Given the description of an element on the screen output the (x, y) to click on. 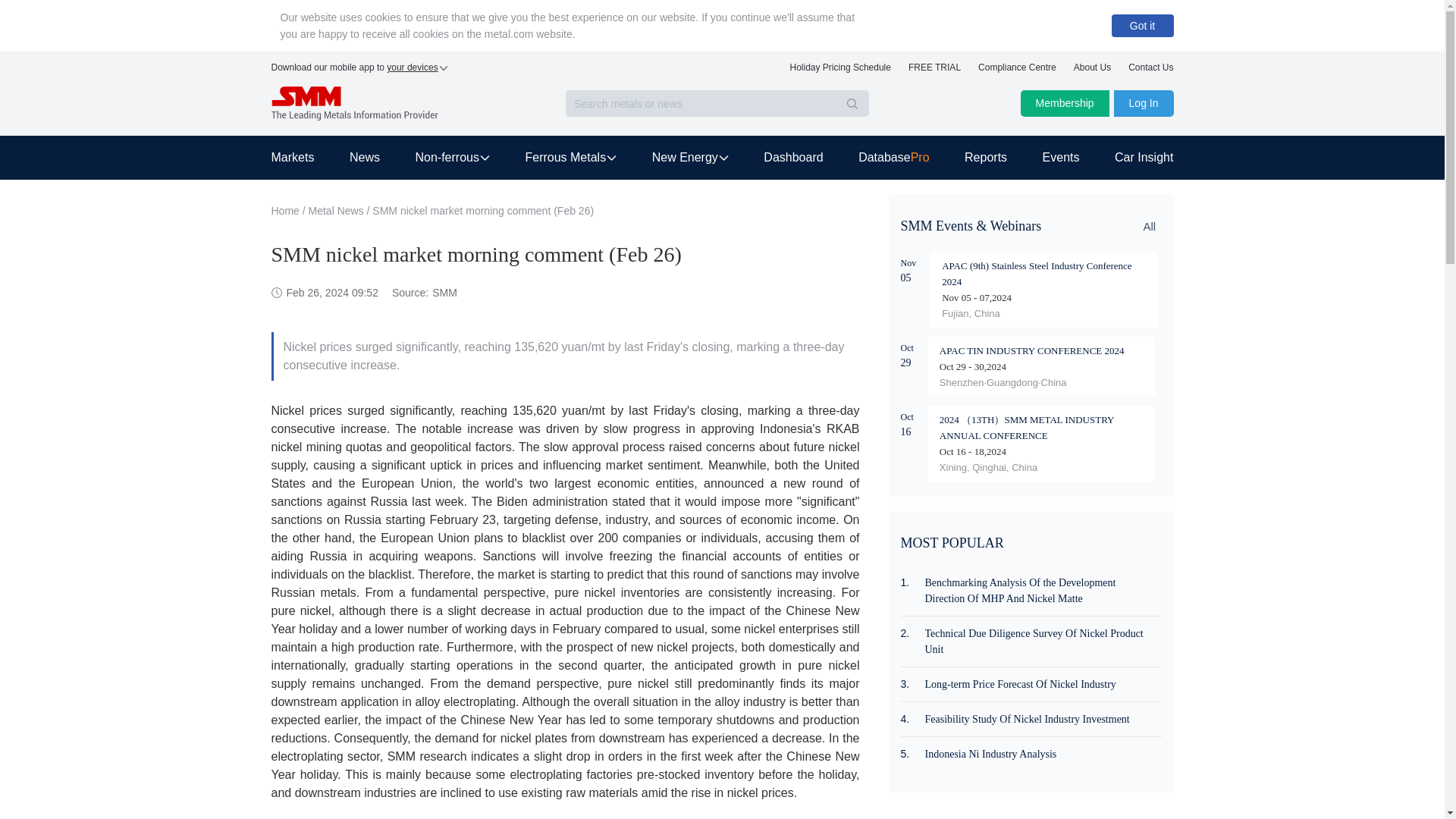
Log In (1143, 103)
Reports (986, 157)
Holiday Pricing Schedule (840, 71)
Home (284, 210)
Events (1061, 157)
Dashboard (792, 157)
Markets (300, 157)
Membership (1064, 103)
Car Insight (1135, 157)
Compliance Centre (1017, 71)
News (364, 157)
Metal News (336, 210)
FREE TRIAL (934, 71)
About Us (1092, 71)
Contact Us (1150, 71)
